Given the description of an element on the screen output the (x, y) to click on. 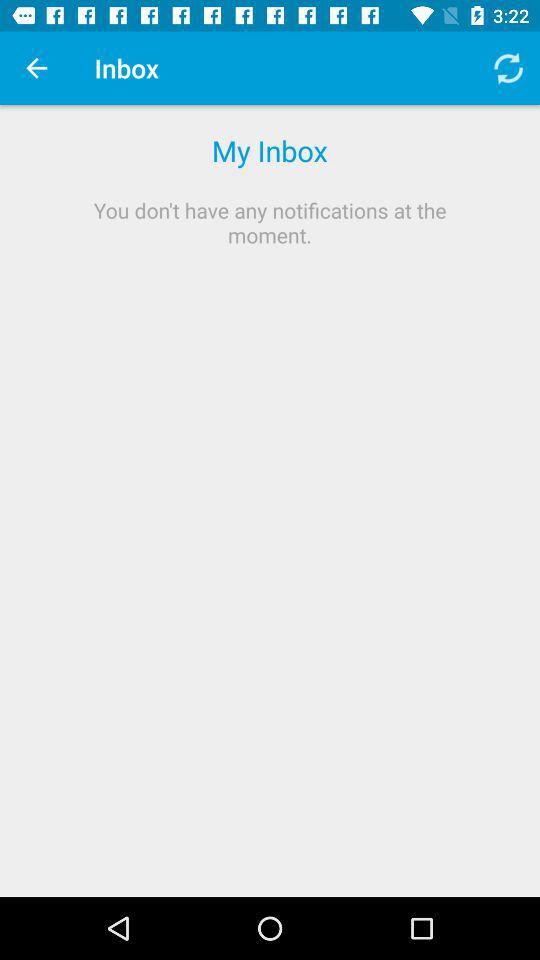
tap the icon above you don t item (508, 67)
